Given the description of an element on the screen output the (x, y) to click on. 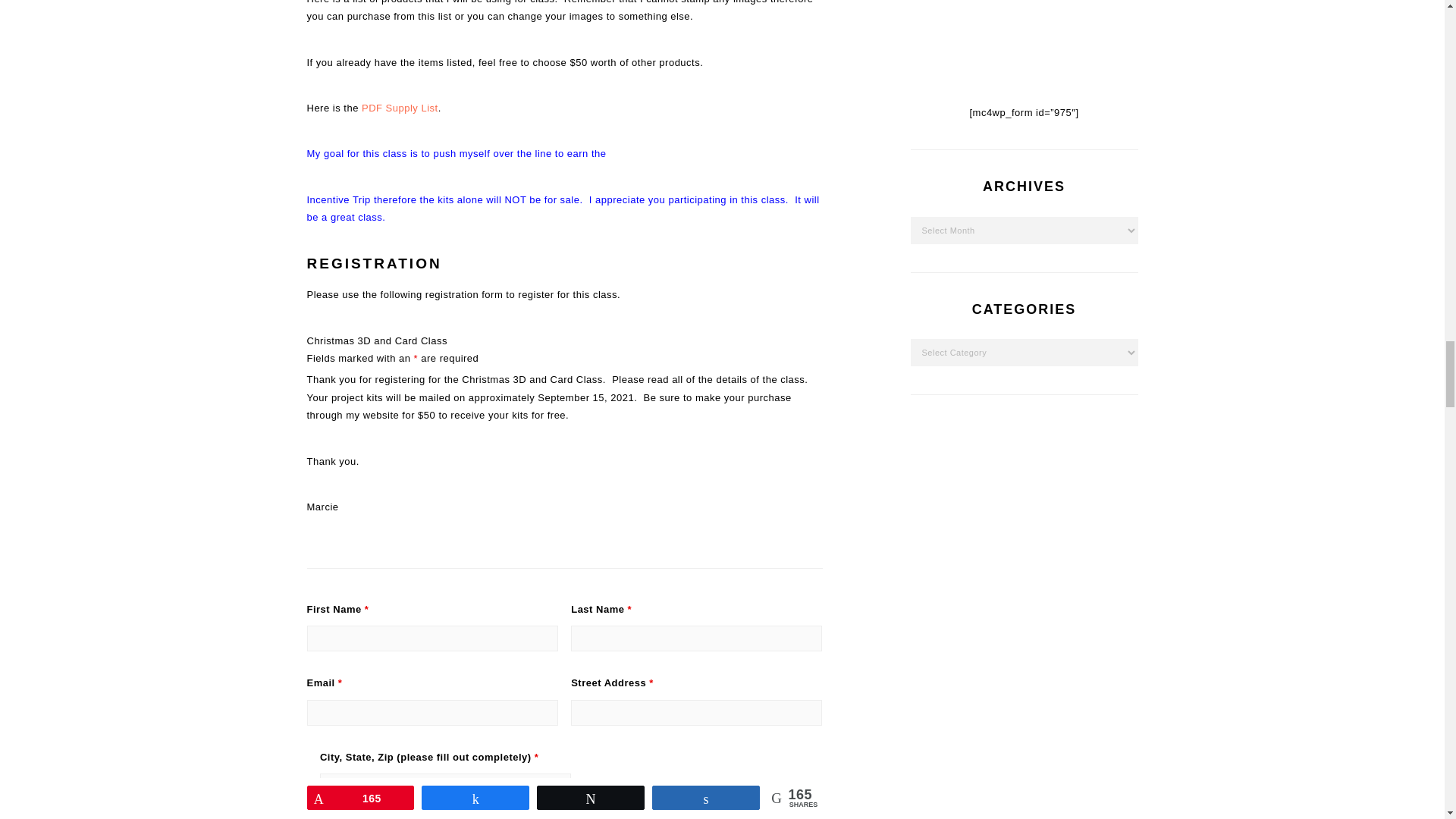
PDF Supply List (399, 107)
